Given the description of an element on the screen output the (x, y) to click on. 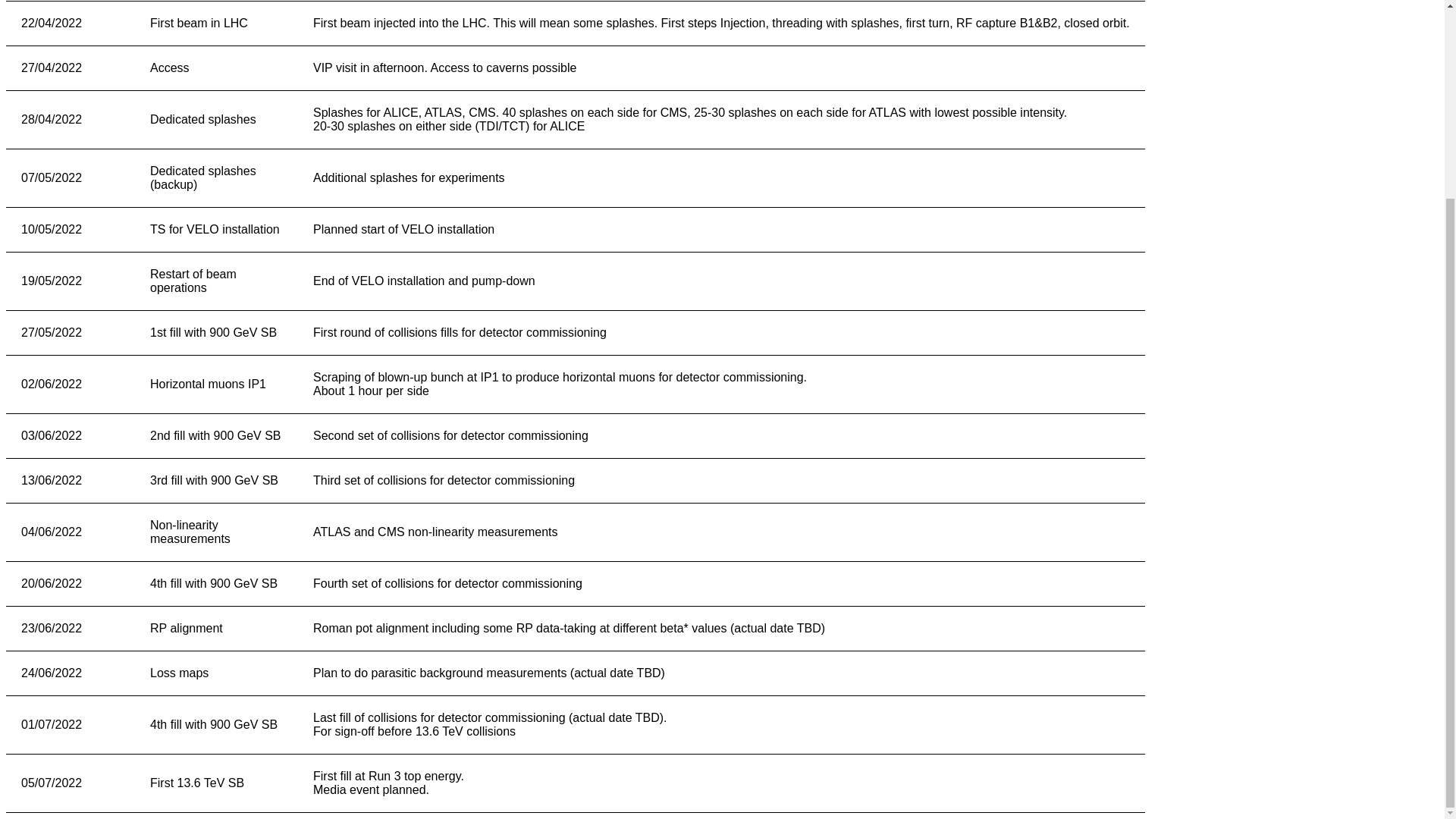
LPC home Element type: text (722, 73)
